Given the description of an element on the screen output the (x, y) to click on. 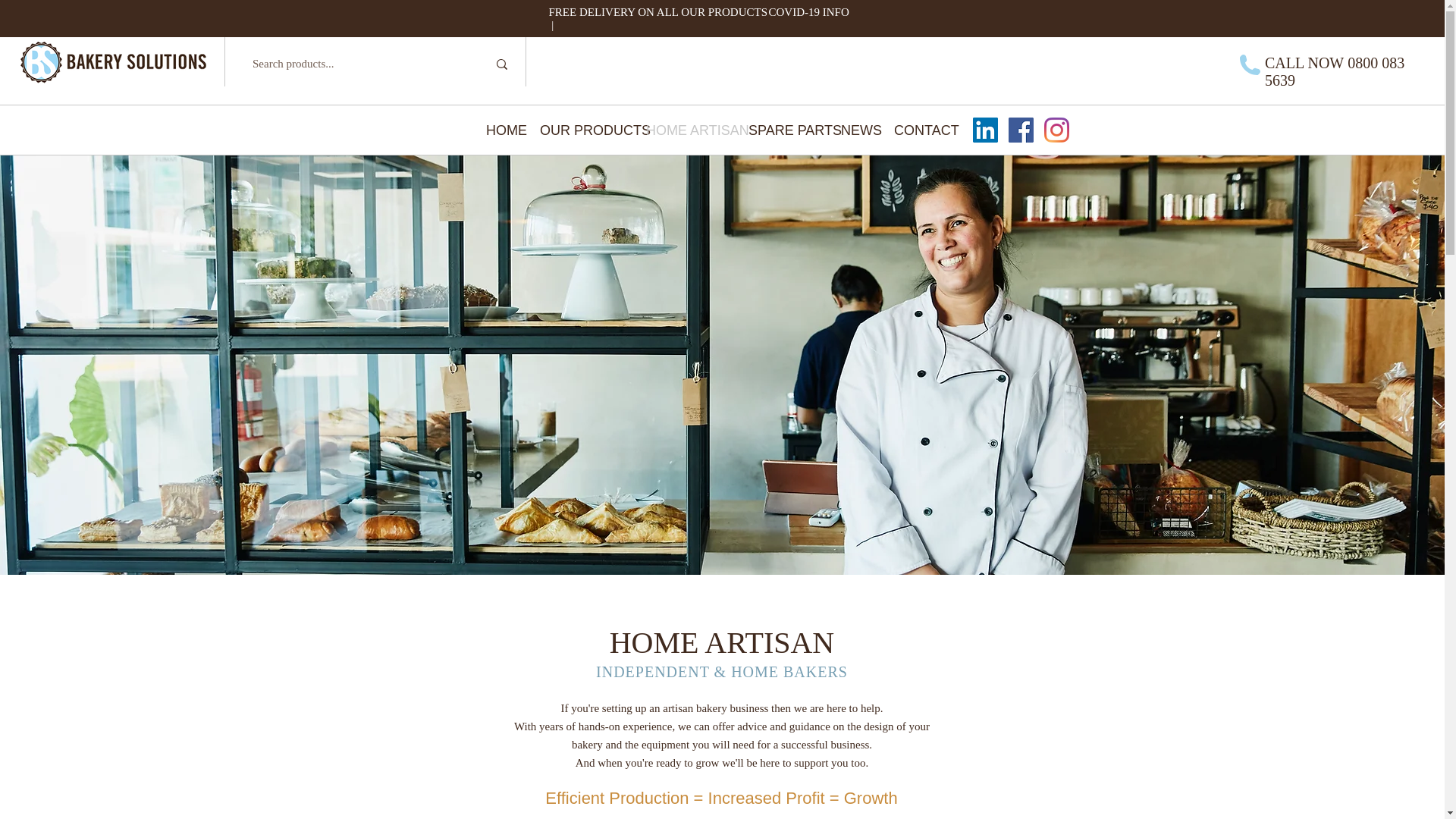
HOME ARTISAN (685, 130)
0800 083 5639 (1335, 71)
HOME (501, 130)
COVID-19 INFO (808, 11)
NEWS (855, 130)
OUR PRODUCTS (581, 130)
CONTACT (918, 130)
SPARE PARTS (782, 130)
